Given the description of an element on the screen output the (x, y) to click on. 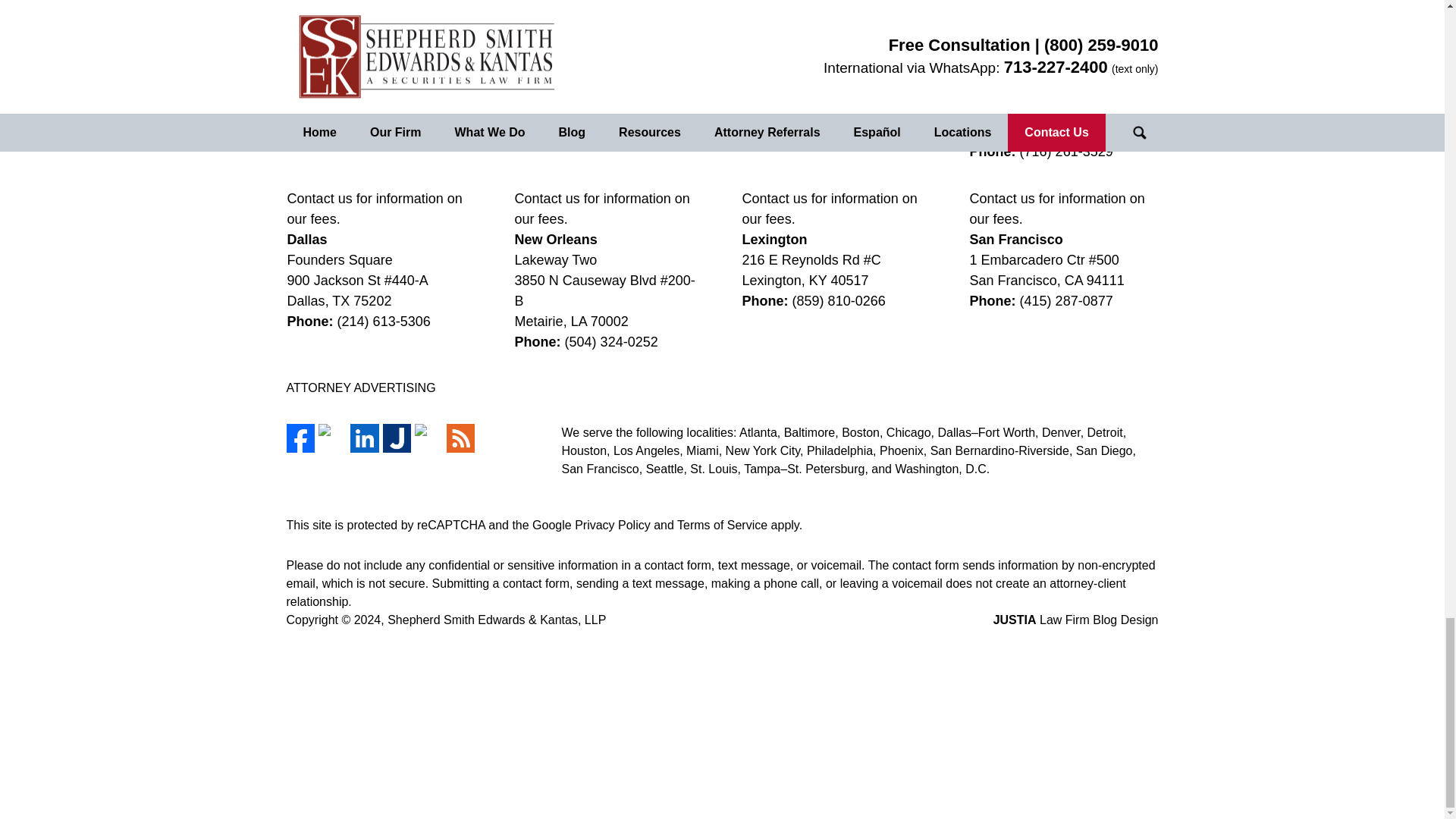
Justia (395, 438)
Facebook (300, 438)
YouTube (428, 438)
Twitter (332, 438)
Feed (460, 438)
LinkedIn (364, 438)
